Given the description of an element on the screen output the (x, y) to click on. 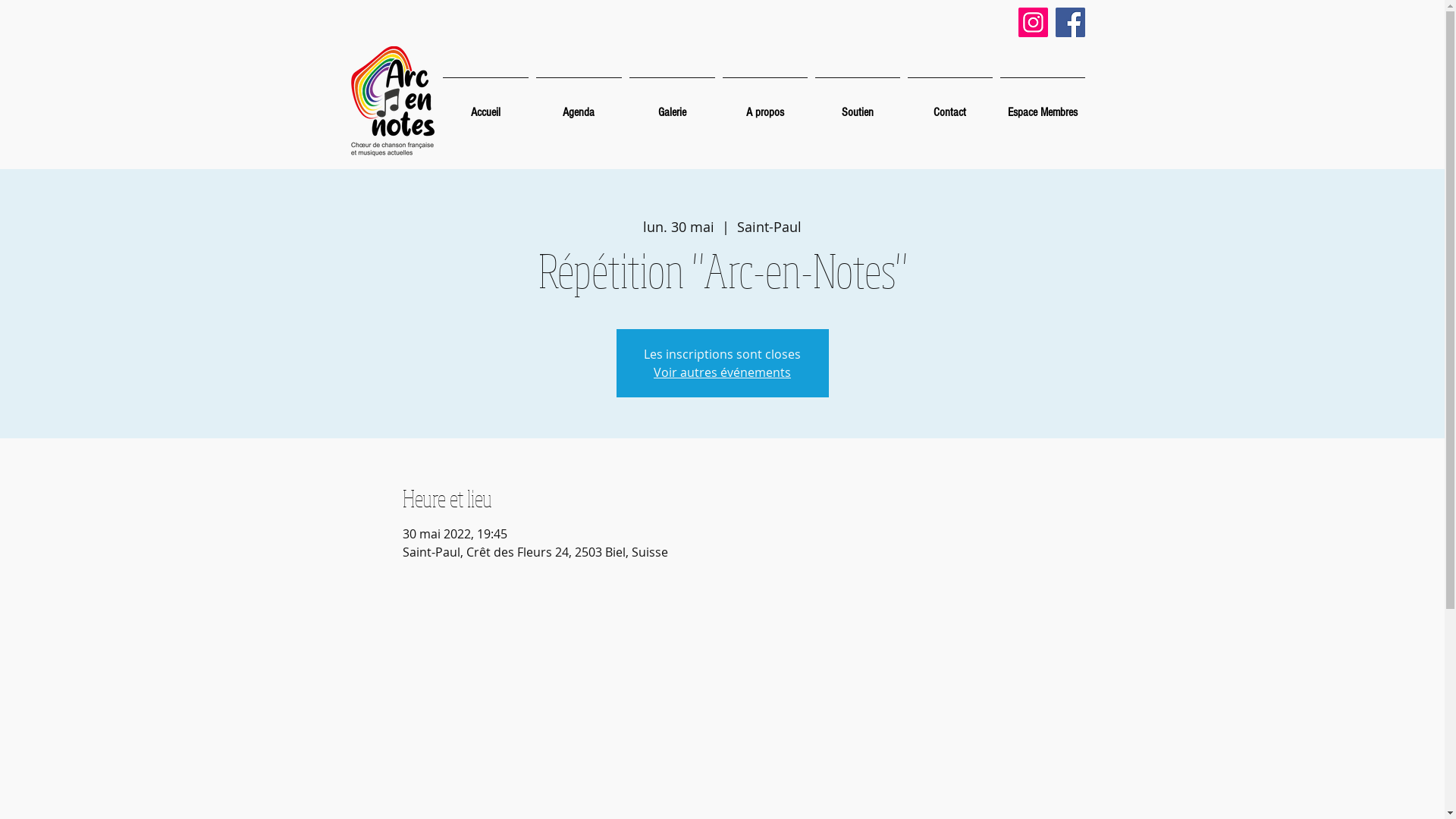
Contact Element type: text (949, 105)
Espace Membres Element type: text (1042, 105)
Agenda Element type: text (578, 105)
Accueil Element type: text (484, 105)
Galerie Element type: text (671, 105)
